Given the description of an element on the screen output the (x, y) to click on. 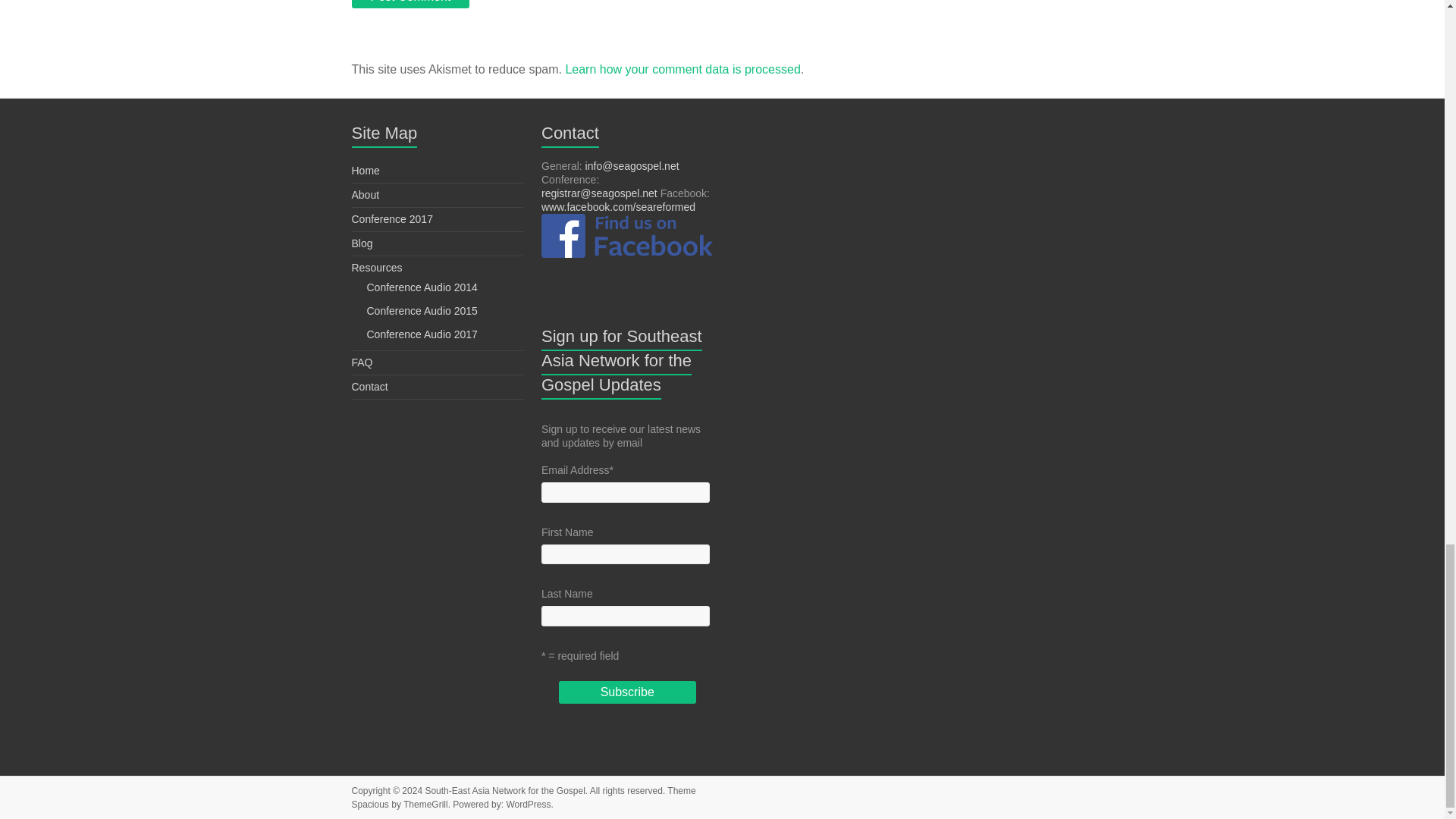
About (366, 194)
Post Comment (411, 4)
FAQ (362, 362)
South-East Asia Network for the Gospel (505, 790)
Conference Audio 2014 (421, 287)
Conference Audio 2017 (421, 334)
Resources (377, 267)
Learn how your comment data is processed (681, 69)
Blog (362, 243)
WordPress (527, 804)
